Given the description of an element on the screen output the (x, y) to click on. 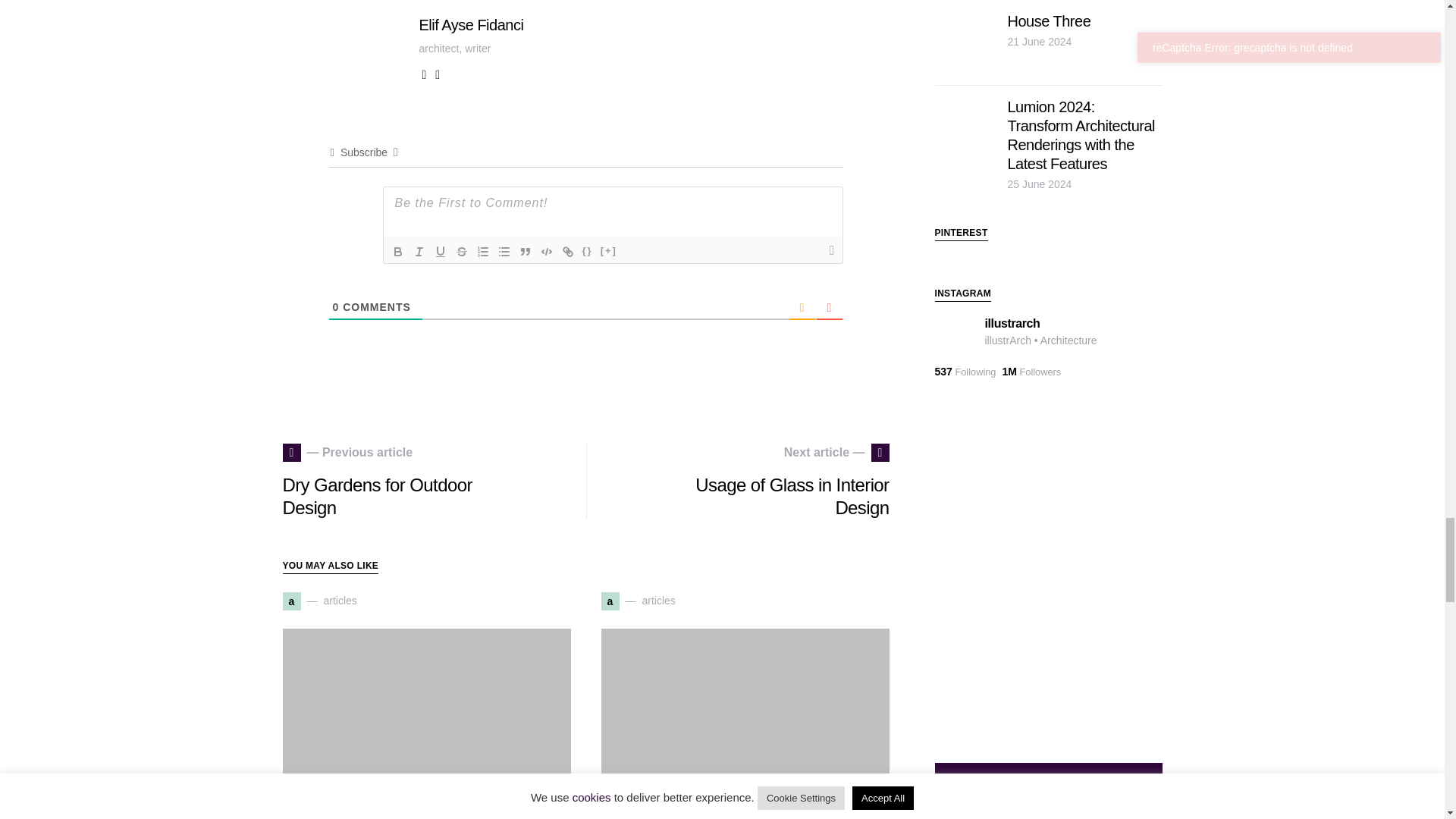
Link (567, 251)
Italic (418, 251)
Source Code (586, 251)
Underline (439, 251)
Unordered List (503, 251)
Ordered List (482, 251)
Spoiler (608, 251)
Blockquote (524, 251)
Strike (460, 251)
Code Block (545, 251)
Bold (397, 251)
